Given the description of an element on the screen output the (x, y) to click on. 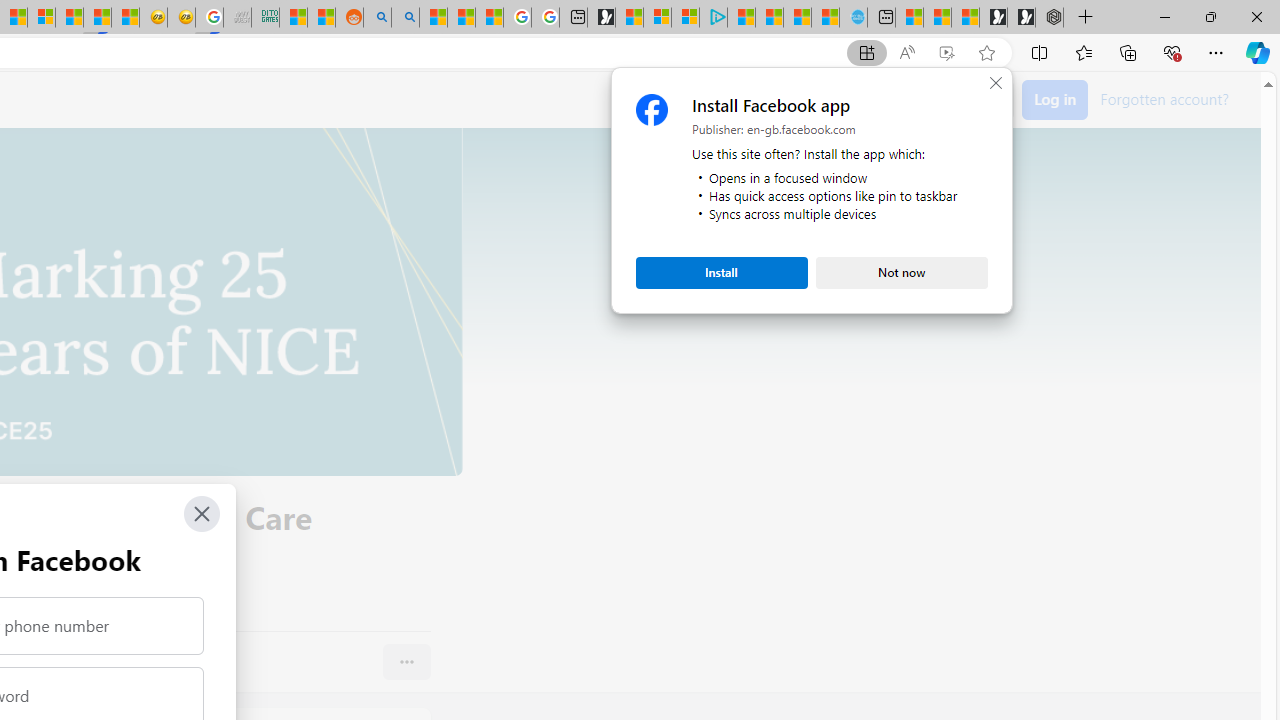
Forgotten account? (1163, 97)
